Given the description of an element on the screen output the (x, y) to click on. 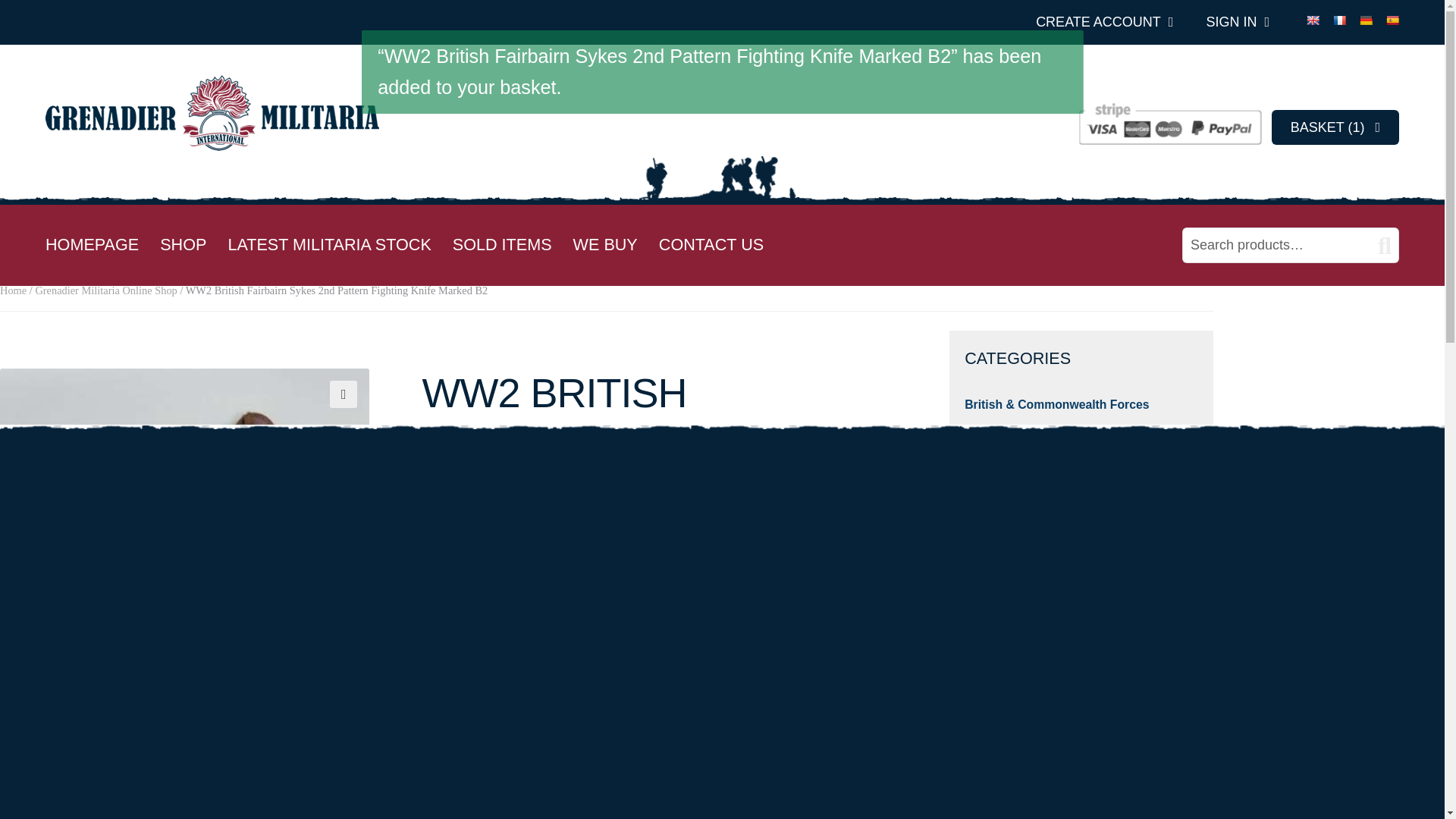
WE BUY (605, 244)
SIGN IN (1237, 21)
SHOP (183, 244)
English (1312, 20)
French (1338, 20)
Spanish (1392, 20)
HOMEPAGE (91, 244)
Home (13, 290)
Customer reviews powered by Trustpilot (659, 812)
Grenadier Militaria Online Shop (105, 290)
LATEST MILITARIA STOCK (328, 244)
SOLD ITEMS (501, 244)
CONTACT US (710, 244)
CREATE ACCOUNT (1103, 21)
